Given the description of an element on the screen output the (x, y) to click on. 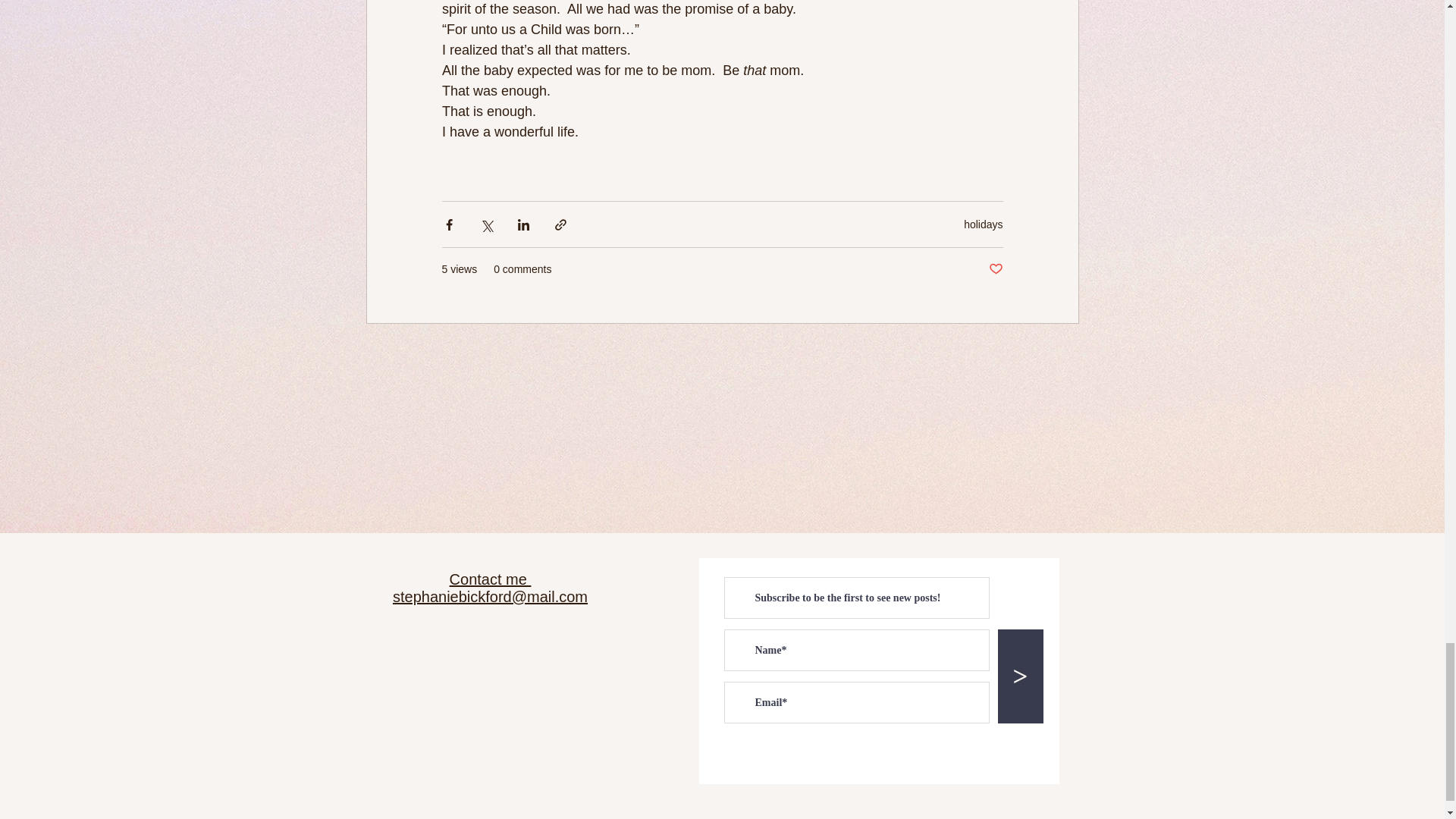
holidays (983, 224)
Post not marked as liked (995, 269)
